Given the description of an element on the screen output the (x, y) to click on. 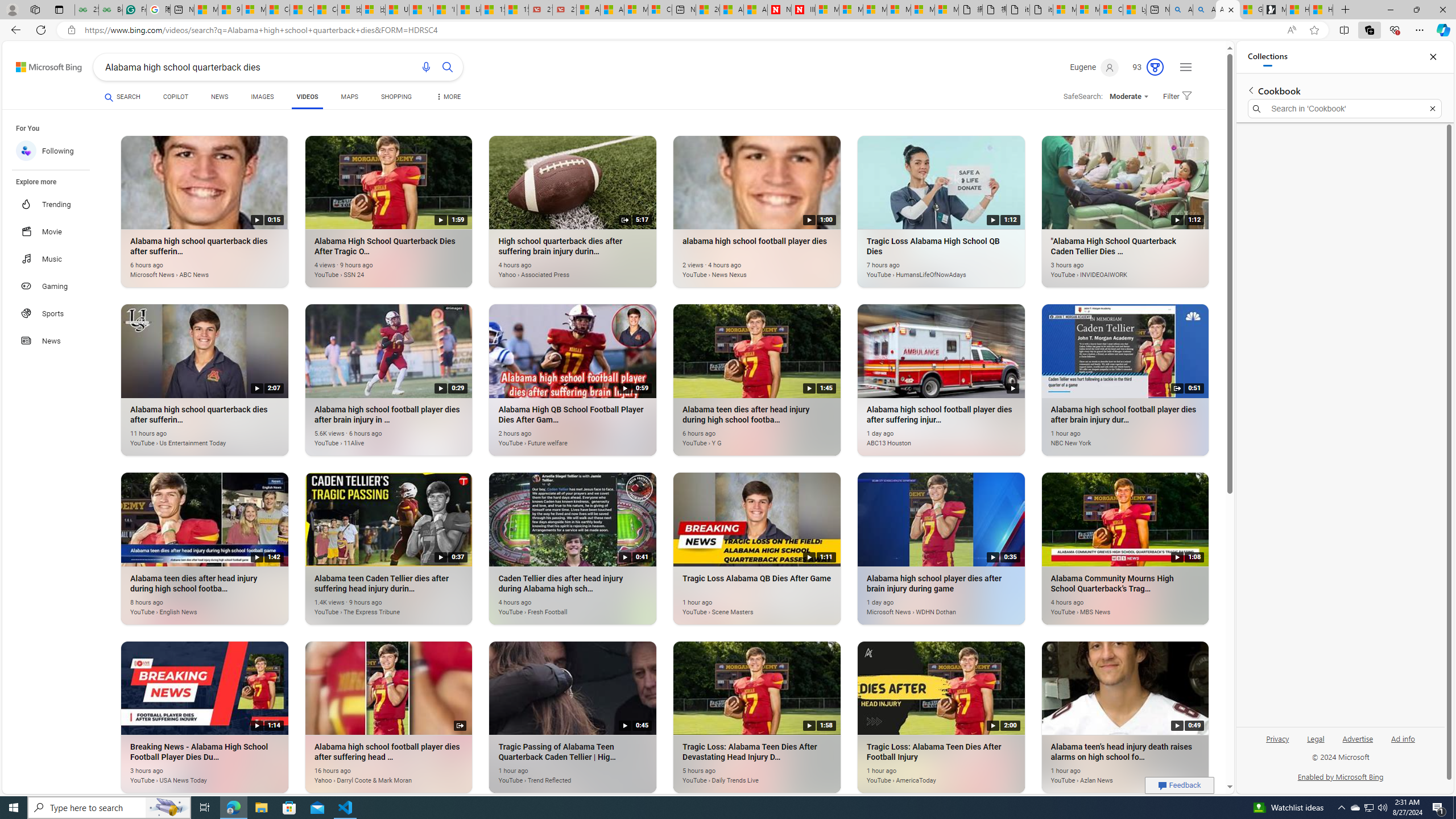
Cloud Computing Services | Microsoft Azure (660, 9)
